Given the description of an element on the screen output the (x, y) to click on. 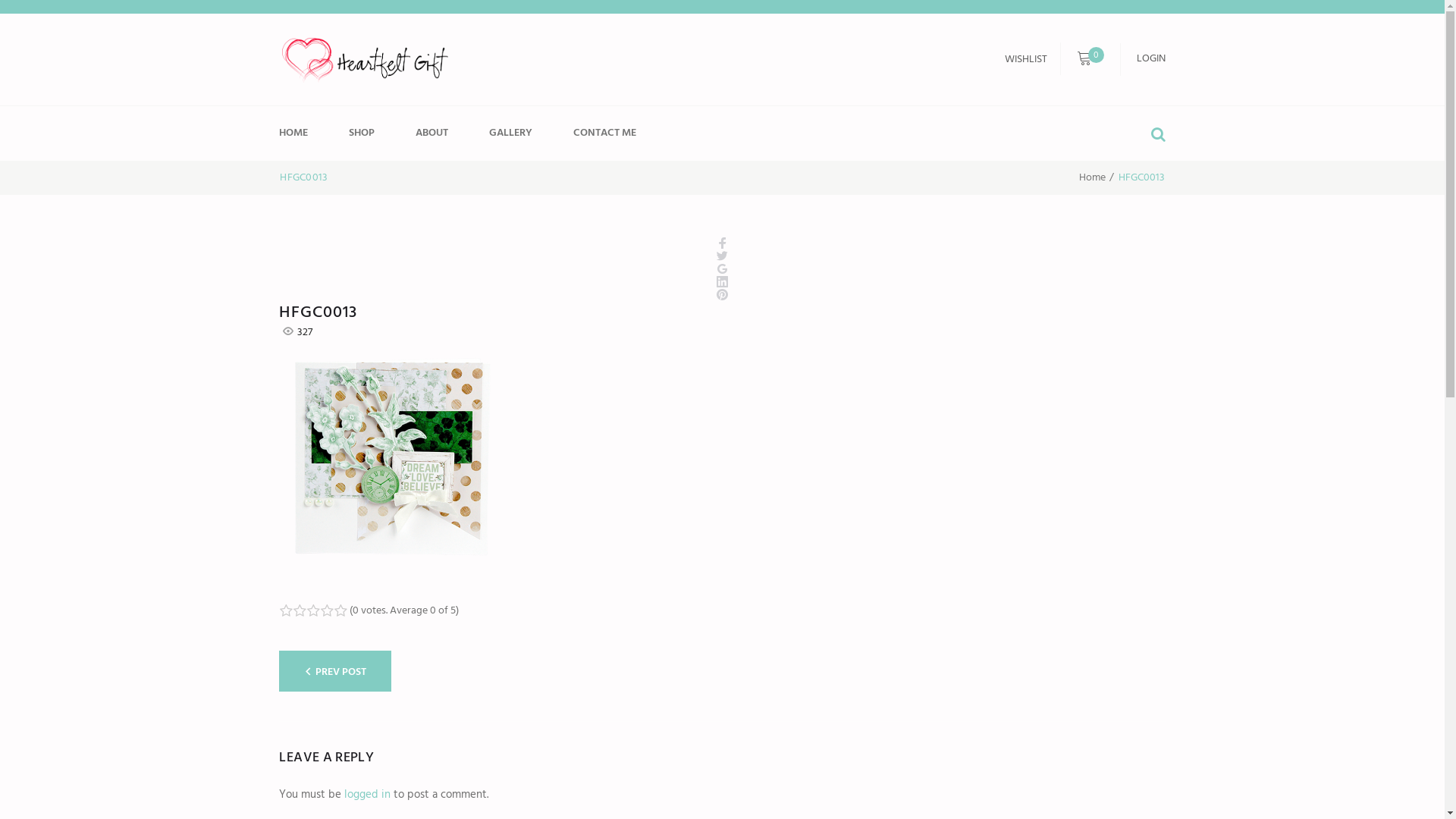
SHOP Element type: text (372, 133)
Facebook Element type: text (722, 244)
HOME Element type: text (304, 133)
GALLERY Element type: text (521, 133)
PREV POST Element type: text (335, 670)
Google+ Element type: text (722, 270)
Home Element type: text (1092, 177)
CONTACT ME Element type: text (615, 133)
LinkedIn Element type: text (722, 283)
ABOUT Element type: text (442, 133)
logged in Element type: text (367, 794)
LOGIN Element type: text (1150, 58)
WISHLIST Element type: text (1025, 59)
Pinterest Element type: text (722, 296)
Twitter Element type: text (722, 257)
